Given the description of an element on the screen output the (x, y) to click on. 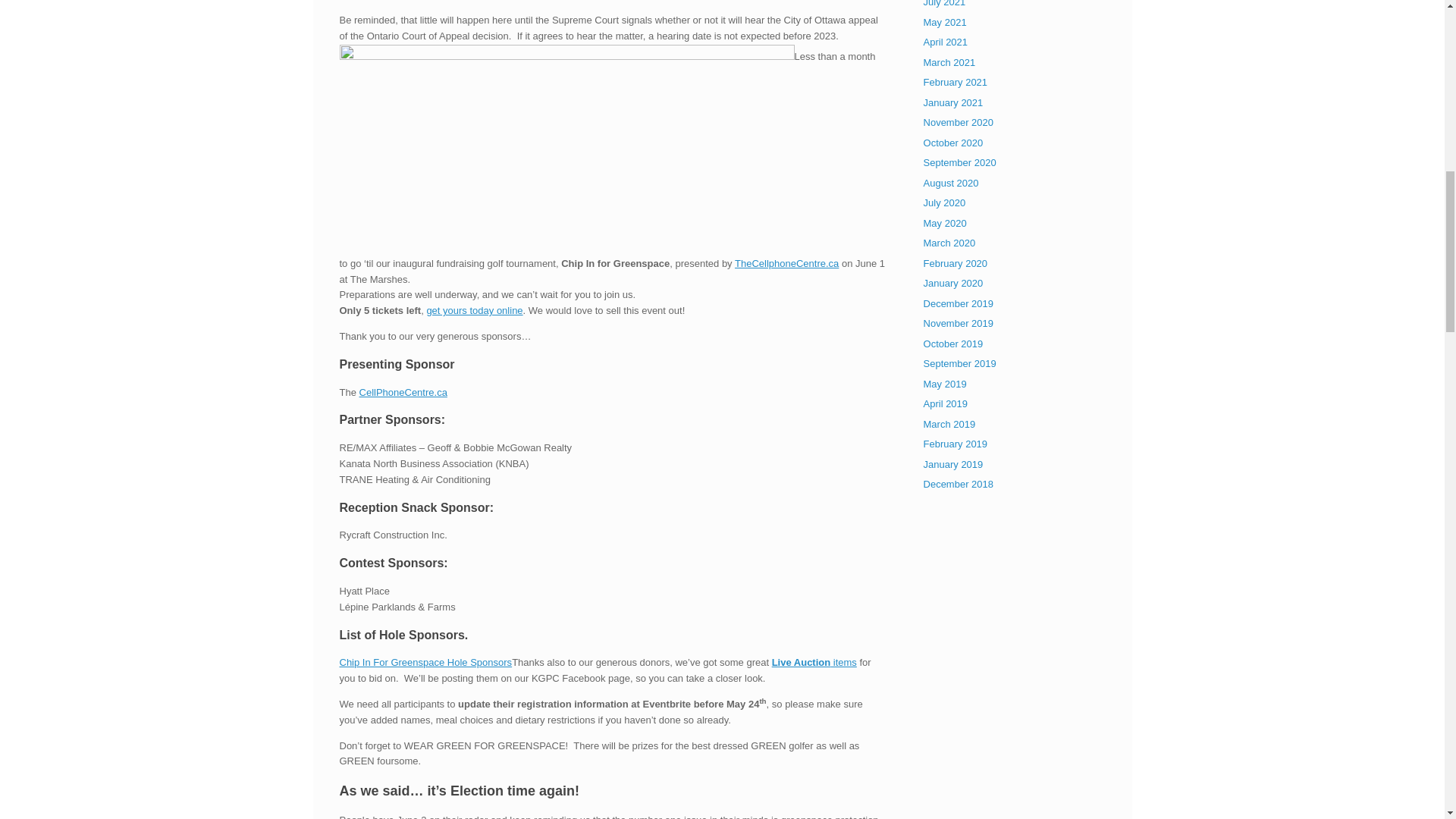
get yours today online (474, 310)
CellPhoneCentre.ca (402, 392)
Chip In For Greenspace Hole Sponsors (425, 662)
Live Auction items (814, 662)
TheCellphoneCentre.ca (786, 263)
